Given the description of an element on the screen output the (x, y) to click on. 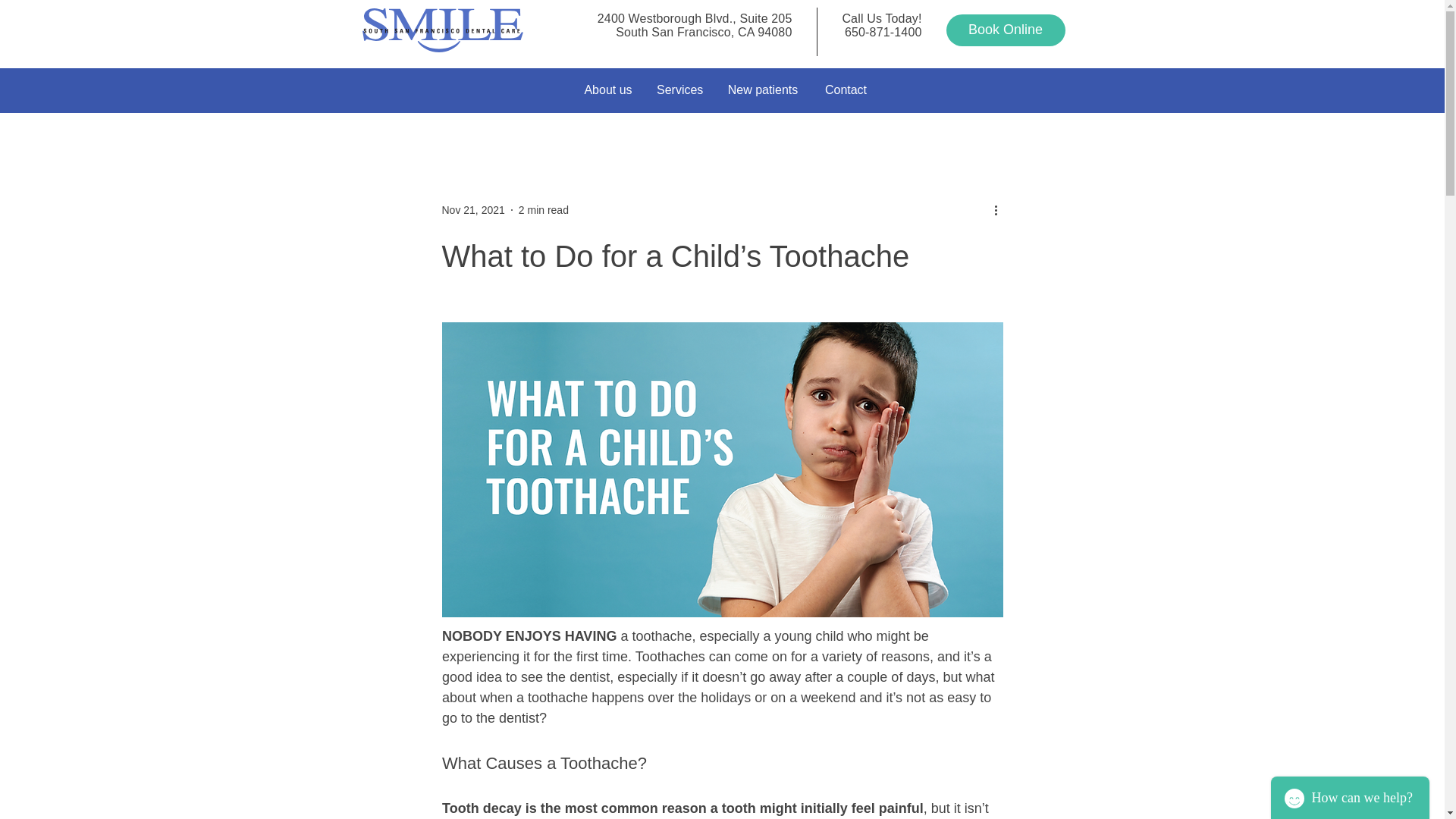
Nov 21, 2021 (472, 209)
Book Online (1005, 29)
2 min read (543, 209)
Services (679, 90)
